Given the description of an element on the screen output the (x, y) to click on. 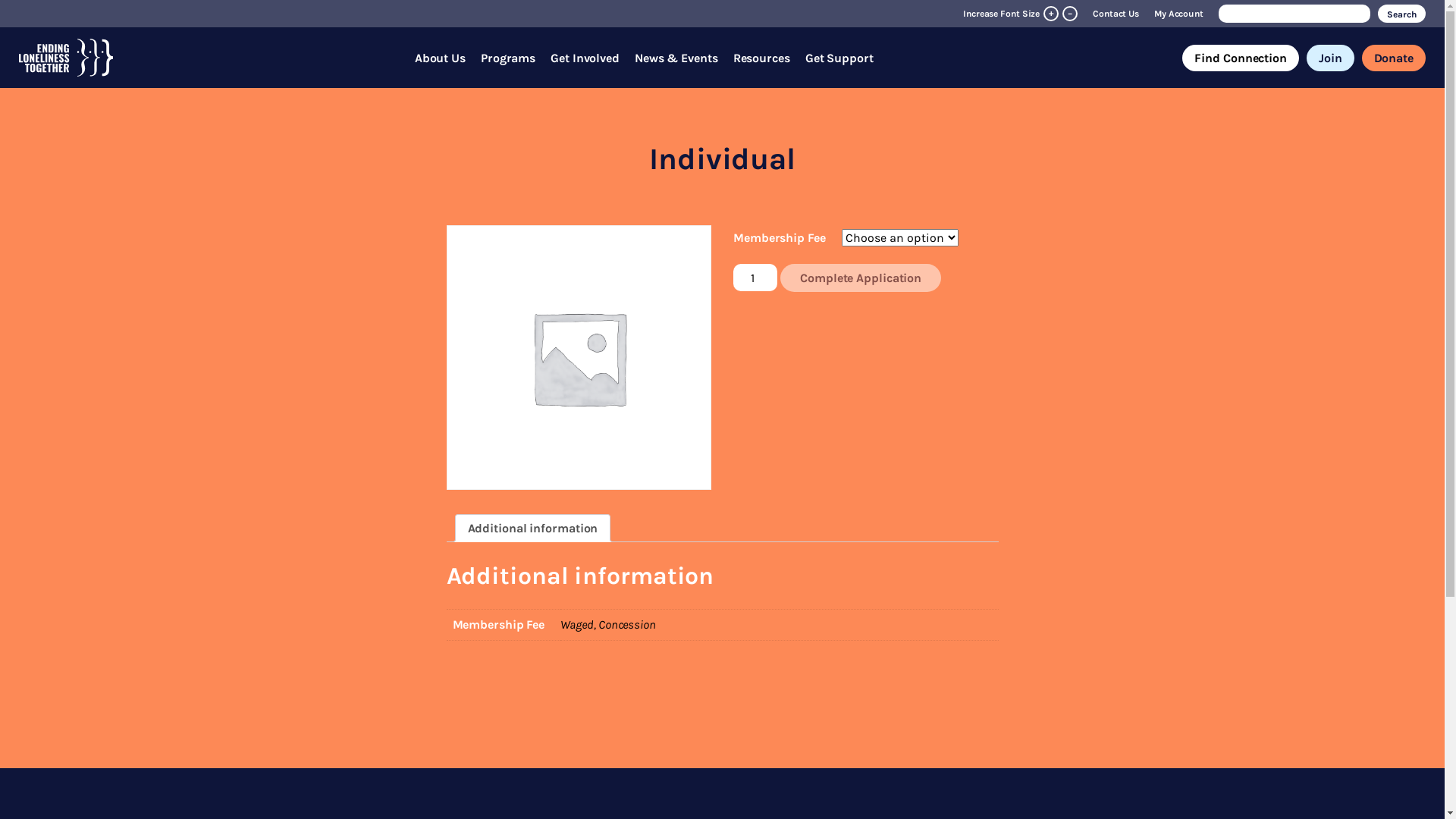
Search Element type: text (1401, 13)
Donate Element type: text (1393, 56)
Complete Application Element type: text (860, 277)
Get Support Element type: text (839, 57)
Get Involved Element type: text (584, 57)
Find Connection Element type: text (1240, 56)
Join Element type: text (1330, 56)
Contact Us Element type: text (1115, 13)
Resources Element type: text (761, 57)
Programs Element type: text (507, 57)
Additional information Element type: text (532, 527)
News & Events Element type: text (676, 57)
My Account Element type: text (1178, 13)
About Us Element type: text (439, 57)
